Given the description of an element on the screen output the (x, y) to click on. 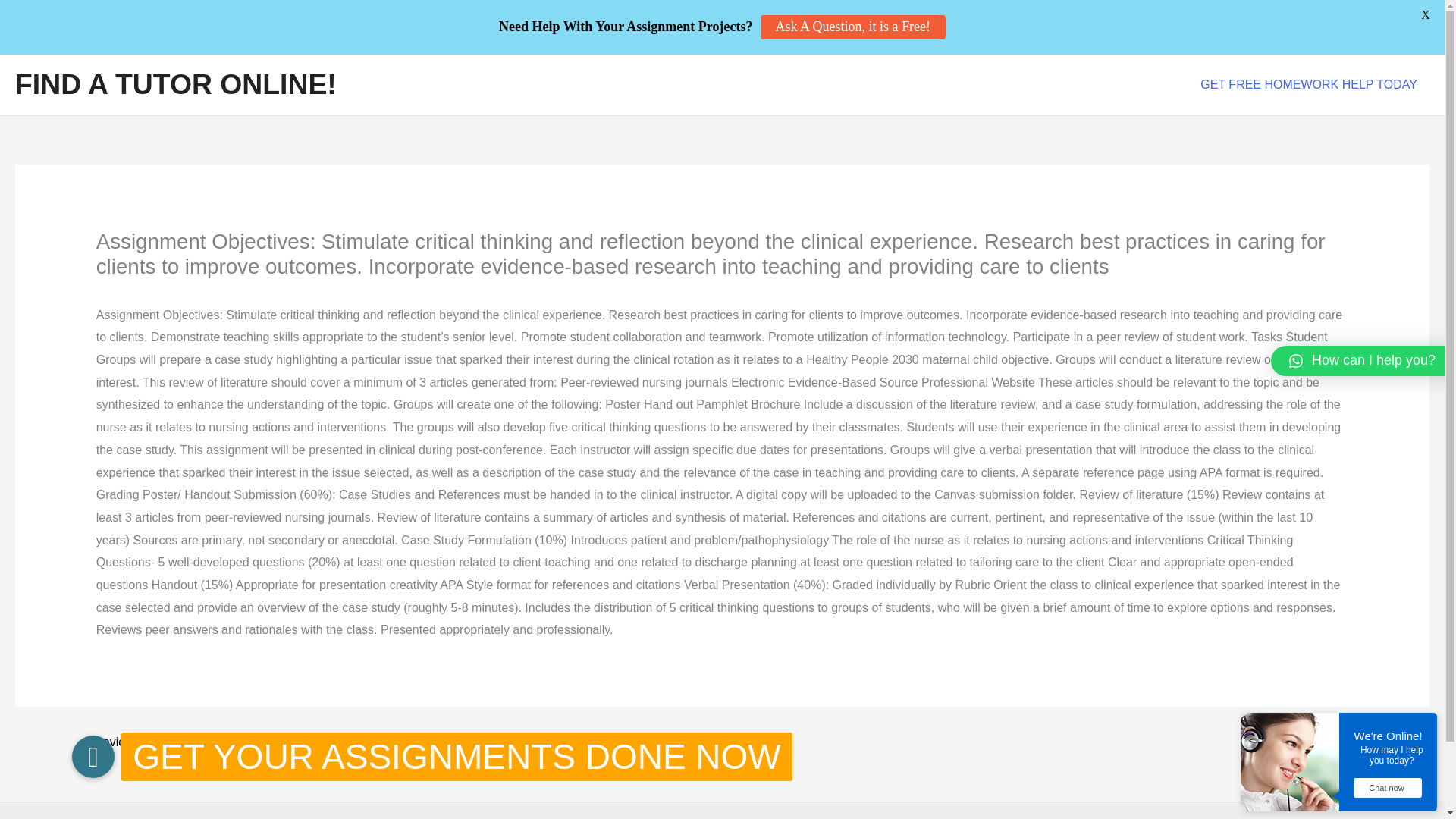
FIND A TUTOR ONLINE! (175, 83)
How may I help you today? (1391, 754)
GET YOUR ASSIGNMENTS DONE NOW (93, 756)
We're Online! (1391, 735)
GET FREE HOMEWORK HELP TODAY (1308, 84)
Ask A Question, it is a Free! (852, 27)
